Given the description of an element on the screen output the (x, y) to click on. 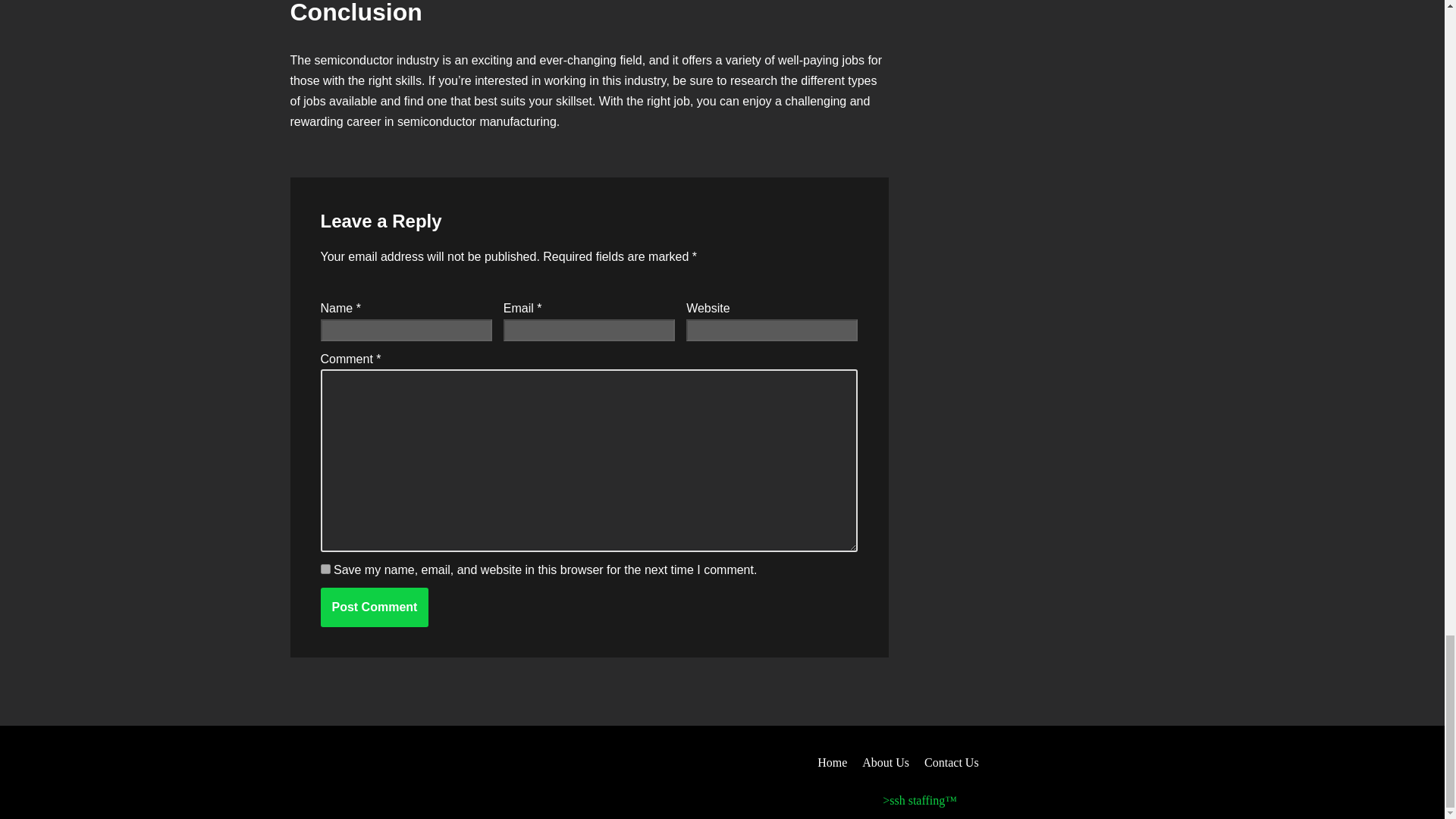
yes (325, 569)
Post Comment (374, 607)
Home (831, 762)
About Us (884, 762)
Post Comment (374, 607)
Contact Us (951, 762)
